Given the description of an element on the screen output the (x, y) to click on. 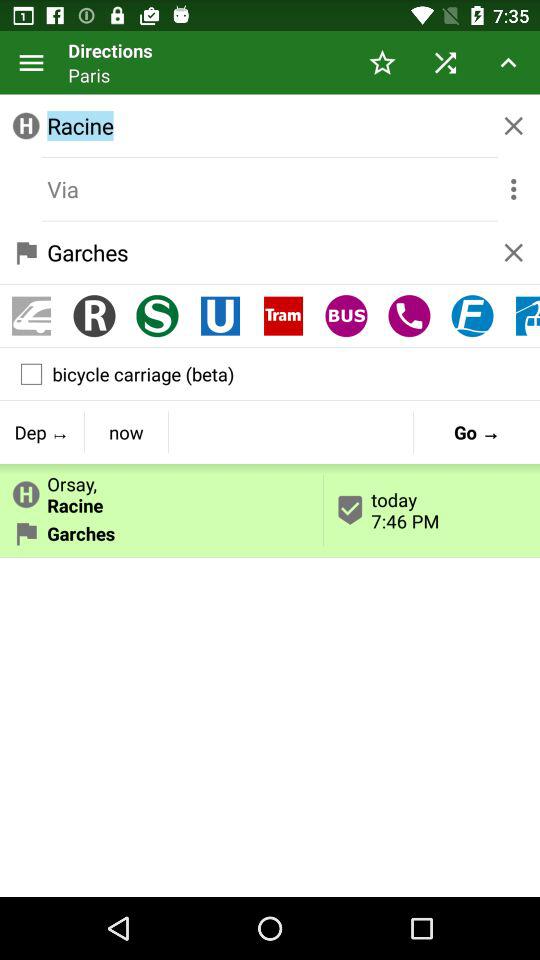
not selectable (270, 189)
